Given the description of an element on the screen output the (x, y) to click on. 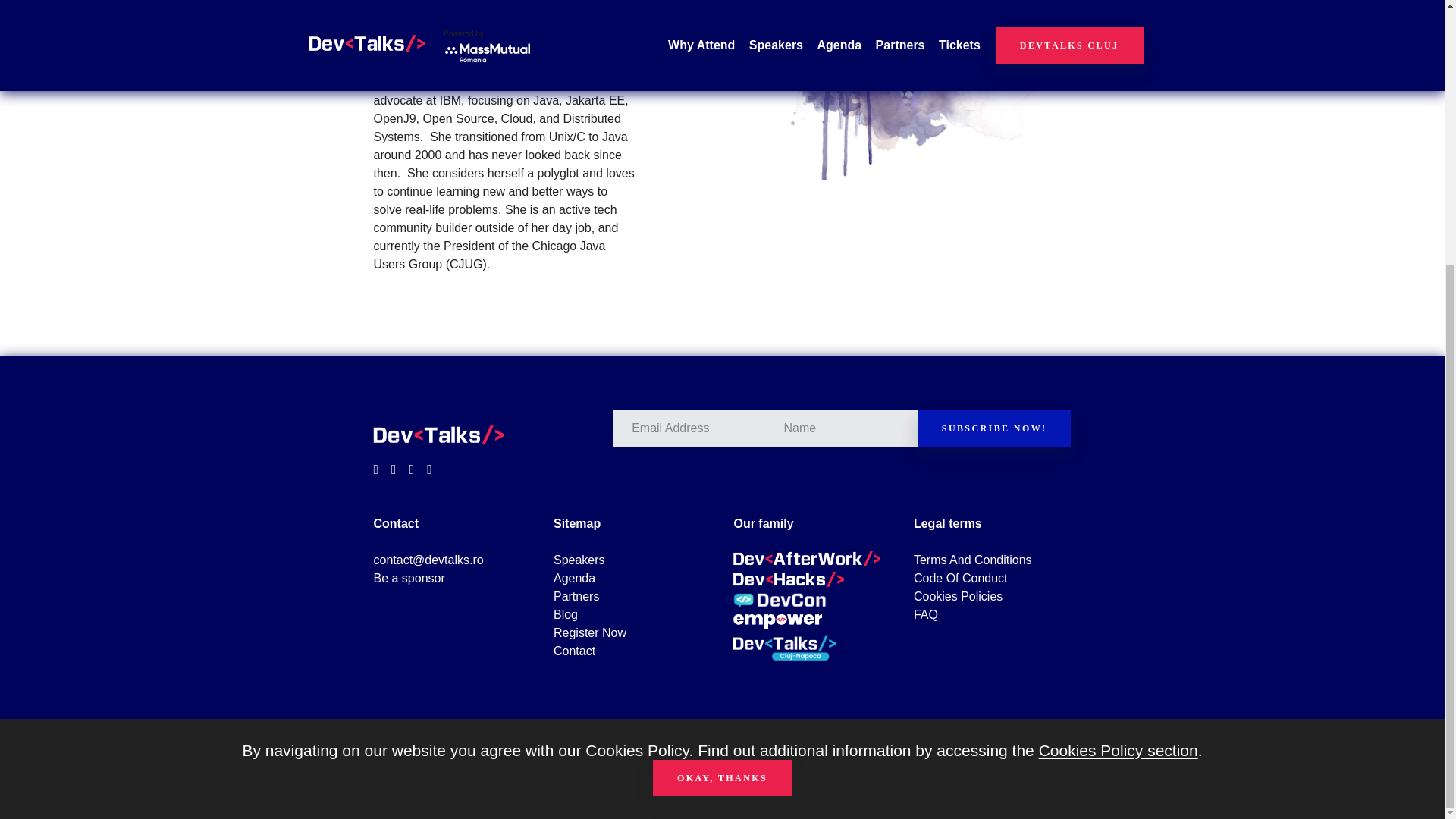
Partners (575, 595)
Linkedin (411, 469)
Facebook (375, 469)
FAQ (925, 614)
Twitter (393, 469)
SUBSCRIBE NOW! (994, 428)
Terms And Conditions (973, 559)
Contact (574, 650)
Agenda (574, 577)
Speakers (579, 559)
Instagram (429, 469)
Cookies Policies (958, 595)
Code Of Conduct (960, 577)
Be a sponsor (408, 577)
Blog (565, 614)
